Given the description of an element on the screen output the (x, y) to click on. 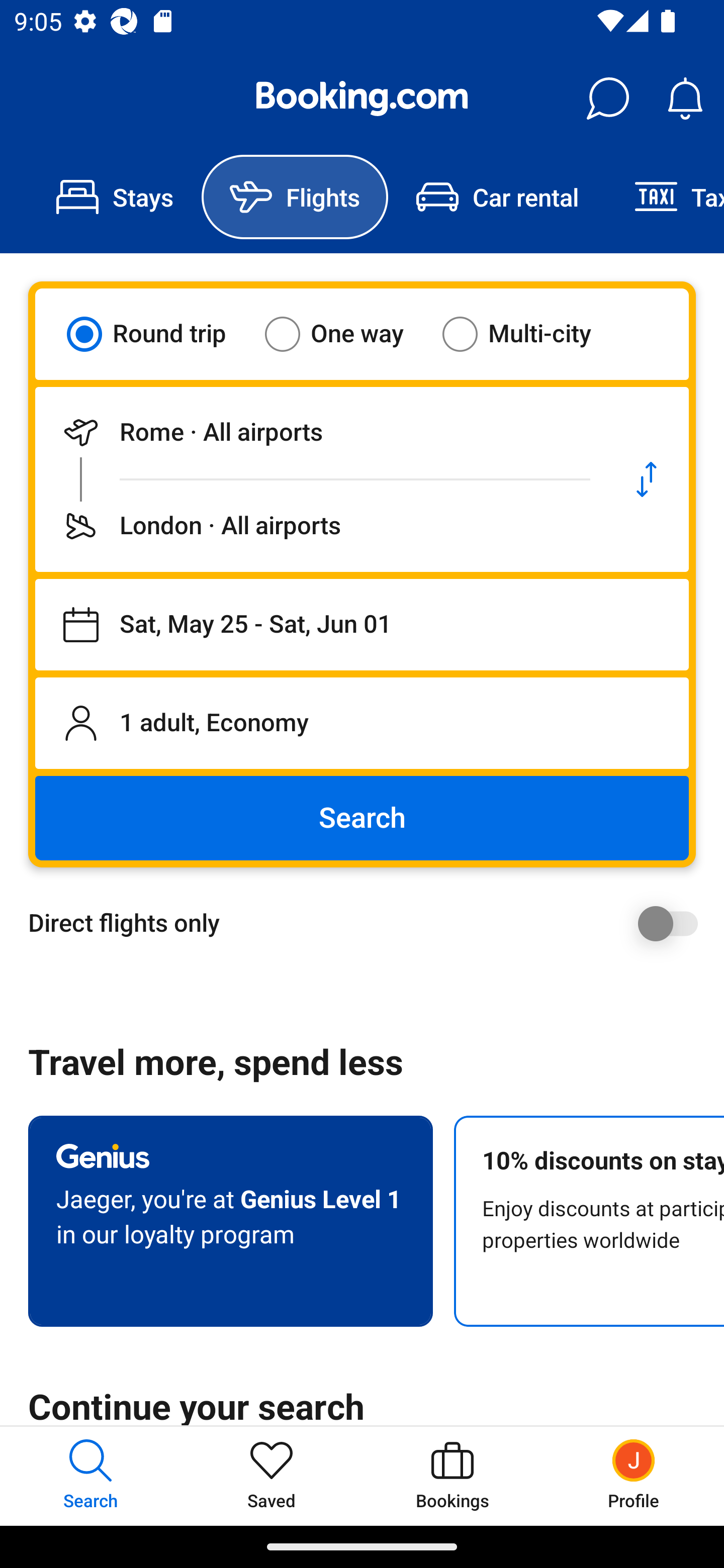
Messages (607, 98)
Notifications (685, 98)
Stays (114, 197)
Flights (294, 197)
Car rental (497, 197)
Taxi (665, 197)
One way (346, 333)
Multi-city (528, 333)
Departing from Rome · All airports (319, 432)
Swap departure location and destination (646, 479)
Flying to London · All airports (319, 525)
Departing on Sat, May 25, returning on Sat, Jun 01 (361, 624)
1 adult, Economy (361, 722)
Search (361, 818)
Direct flights only (369, 923)
Saved (271, 1475)
Bookings (452, 1475)
Profile (633, 1475)
